Given the description of an element on the screen output the (x, y) to click on. 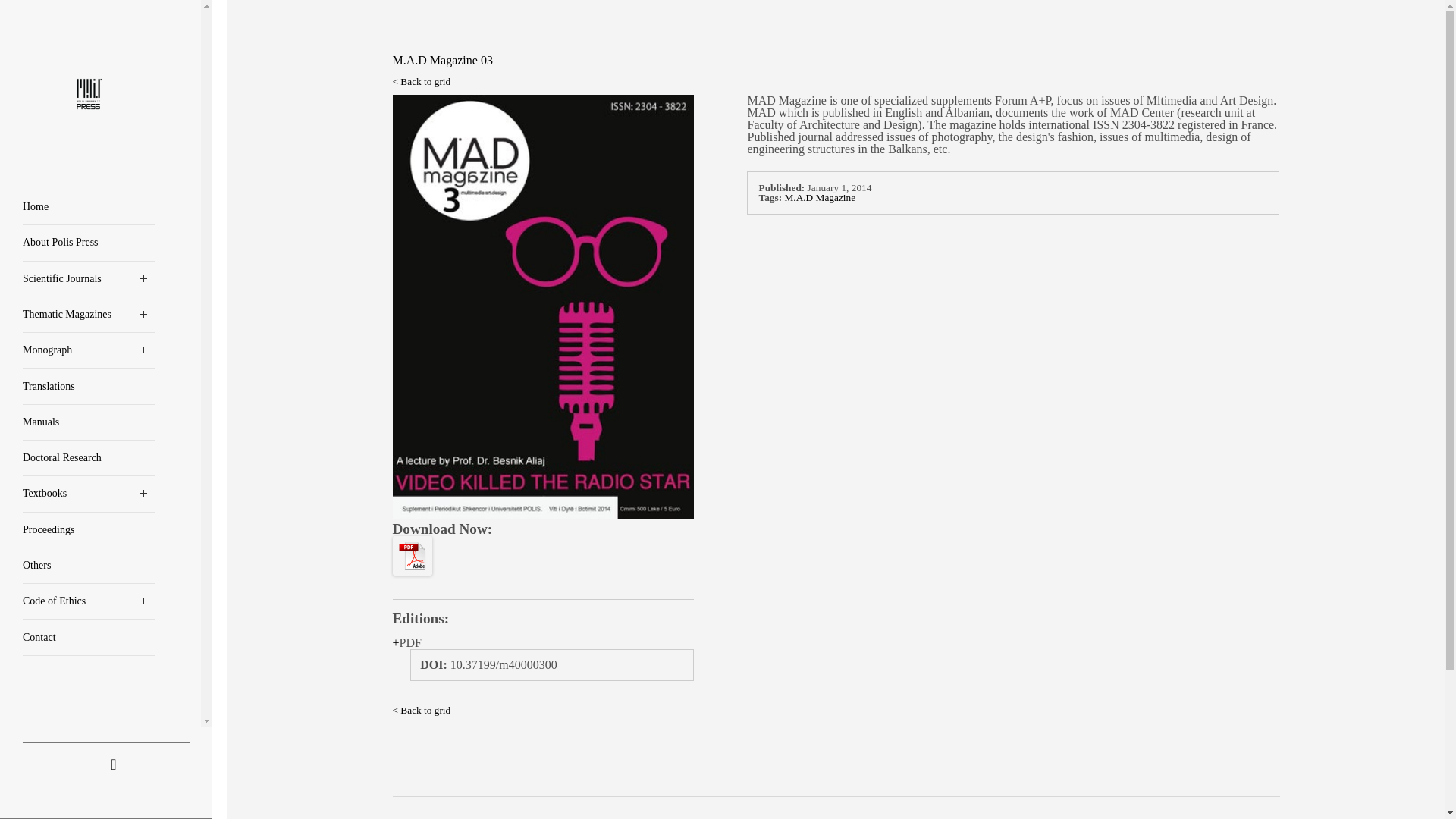
Textbooks (89, 493)
M.A.D Magazine (820, 197)
Proceedings (89, 529)
Others (89, 565)
Monograph (89, 350)
Thematic Magazines (89, 314)
Scientific Journals (89, 279)
Code of Ethics (89, 601)
About Polis Press (89, 243)
Home (89, 207)
Contact (89, 637)
Translations (89, 386)
Doctoral Research (89, 457)
Manuals (89, 422)
